Given the description of an element on the screen output the (x, y) to click on. 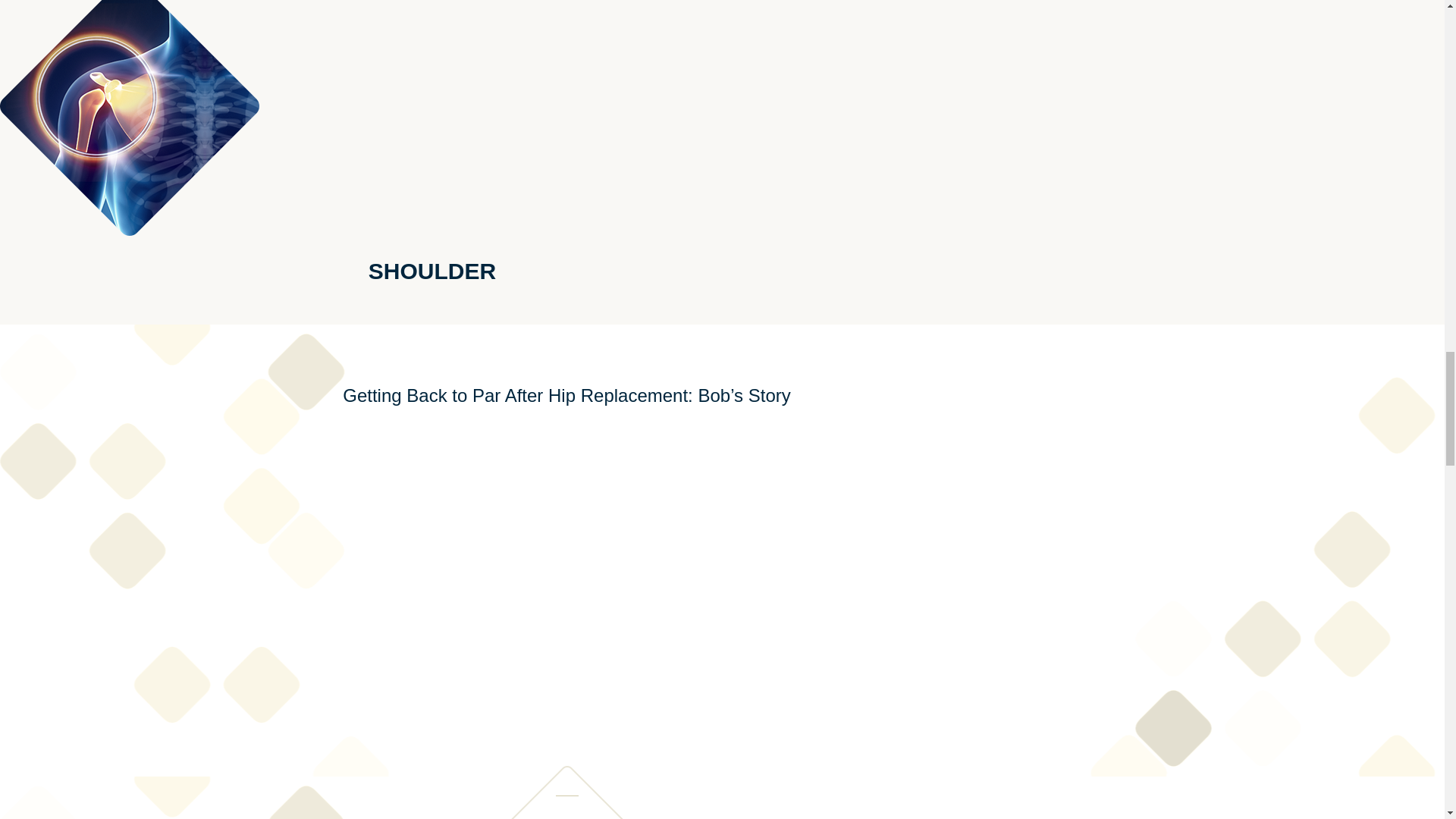
Sholder (129, 117)
